Given the description of an element on the screen output the (x, y) to click on. 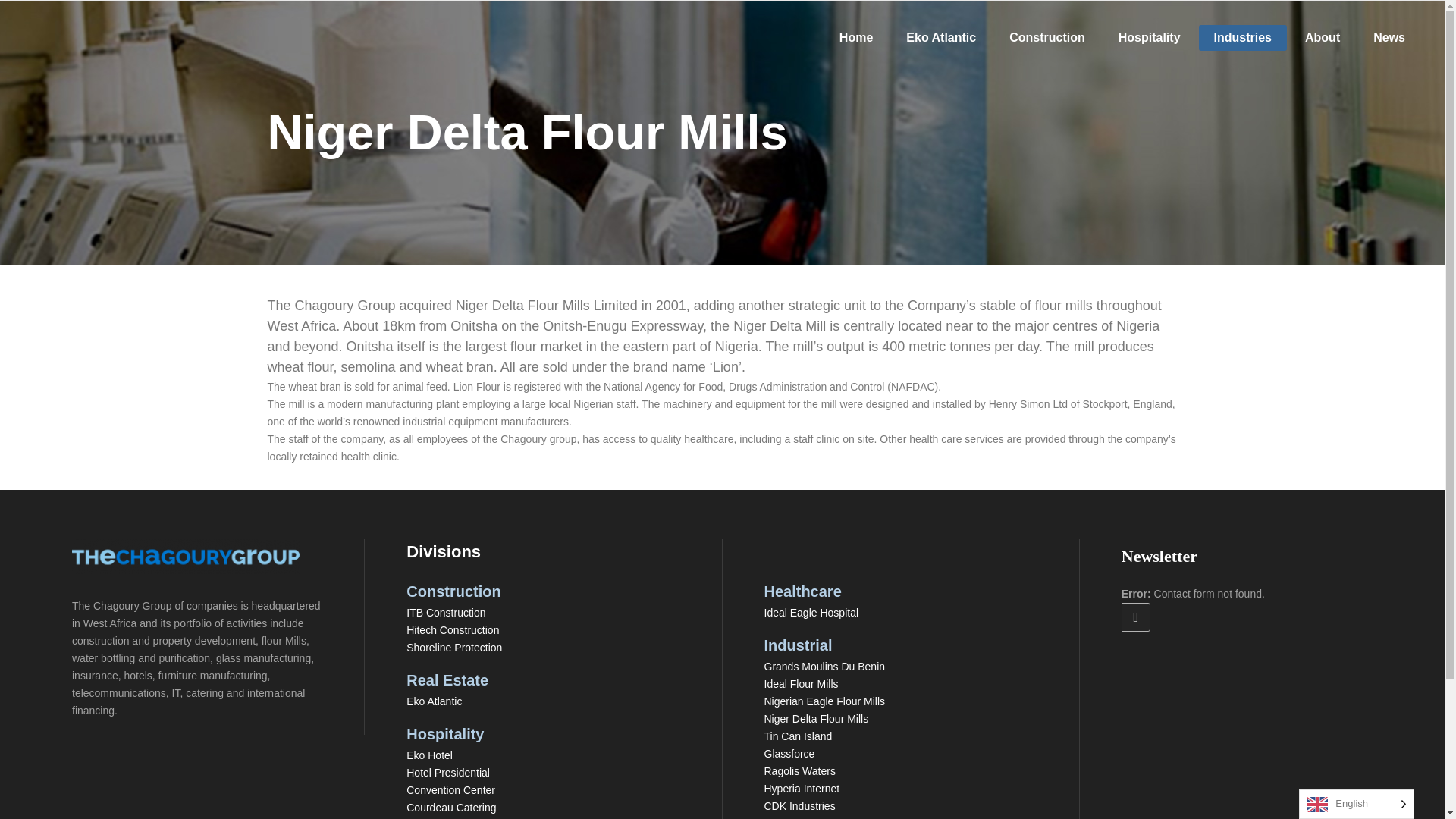
Hospitality (1149, 38)
Industries (1242, 38)
Construction (1047, 38)
Eko Atlantic (941, 38)
